Given the description of an element on the screen output the (x, y) to click on. 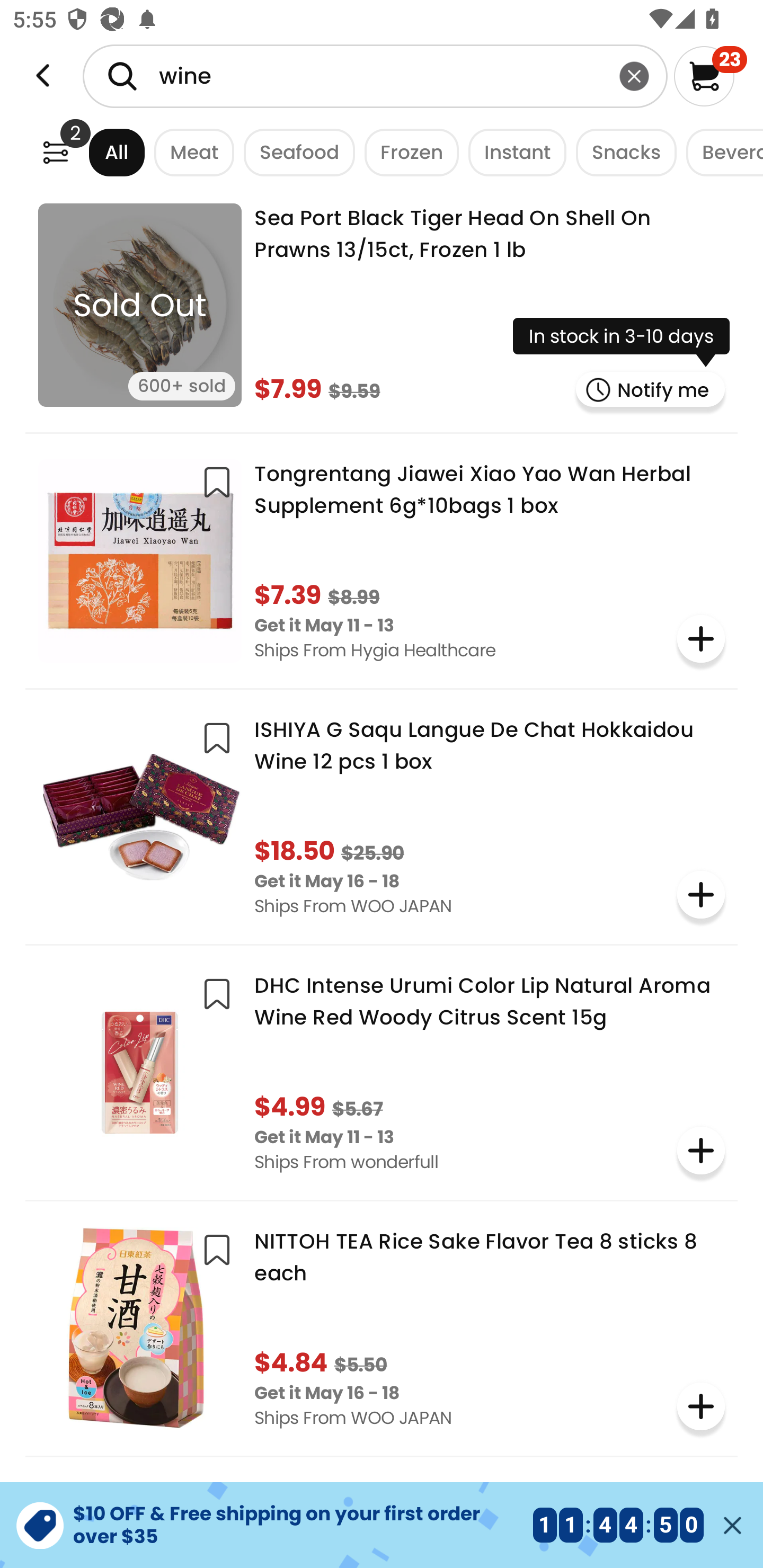
wine (374, 75)
23 (709, 75)
Weee! (42, 76)
Weee! (55, 151)
All (99, 151)
Meat (189, 151)
Seafood (294, 151)
Frozen (406, 151)
Instant (512, 151)
Snacks (621, 151)
Beverages (719, 151)
In stock in 3-10 days (620, 342)
Notify me (650, 388)
